Given the description of an element on the screen output the (x, y) to click on. 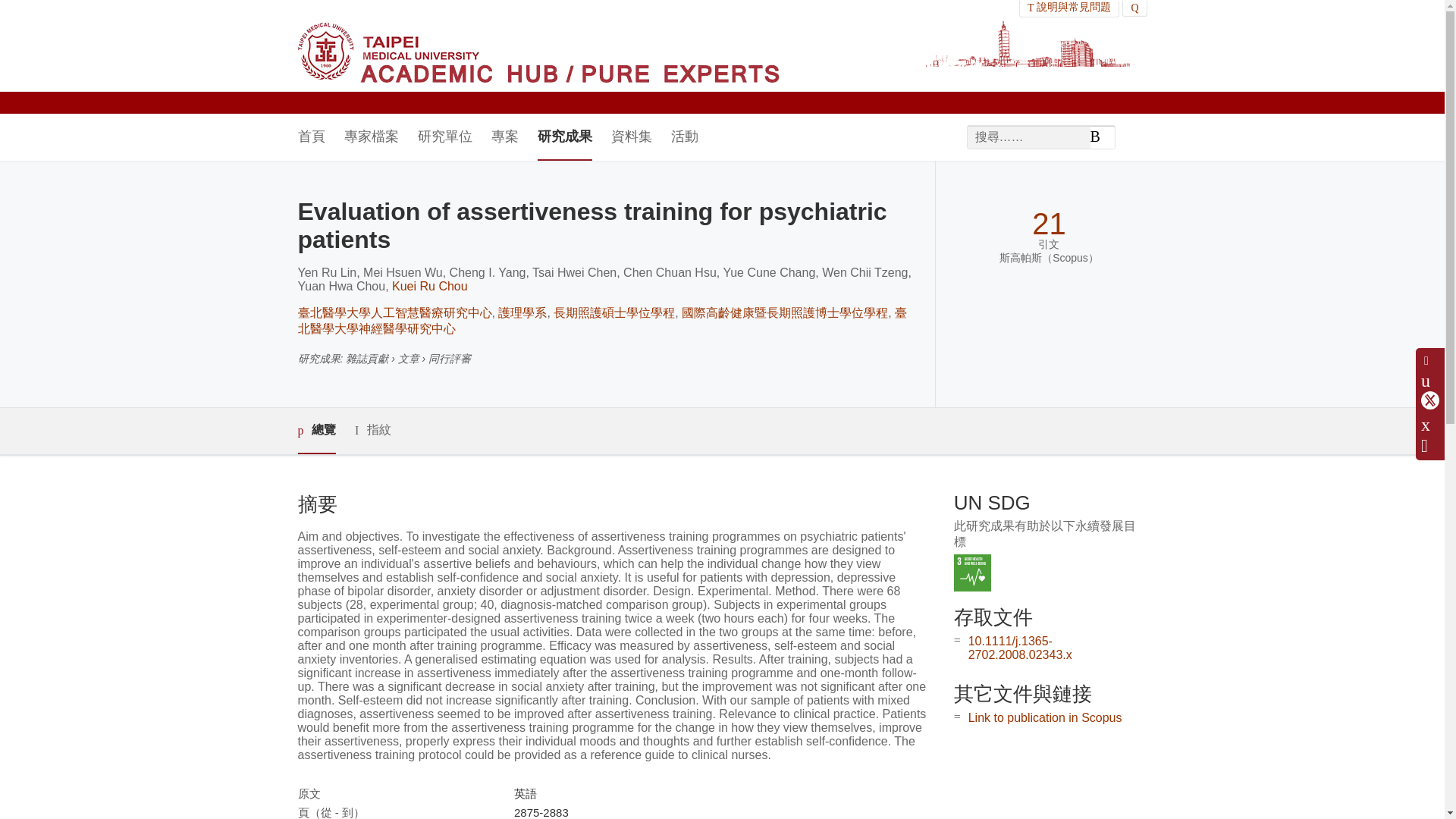
Kuei Ru Chou (429, 286)
Link to publication in Scopus (1045, 717)
21 (1048, 223)
